Given the description of an element on the screen output the (x, y) to click on. 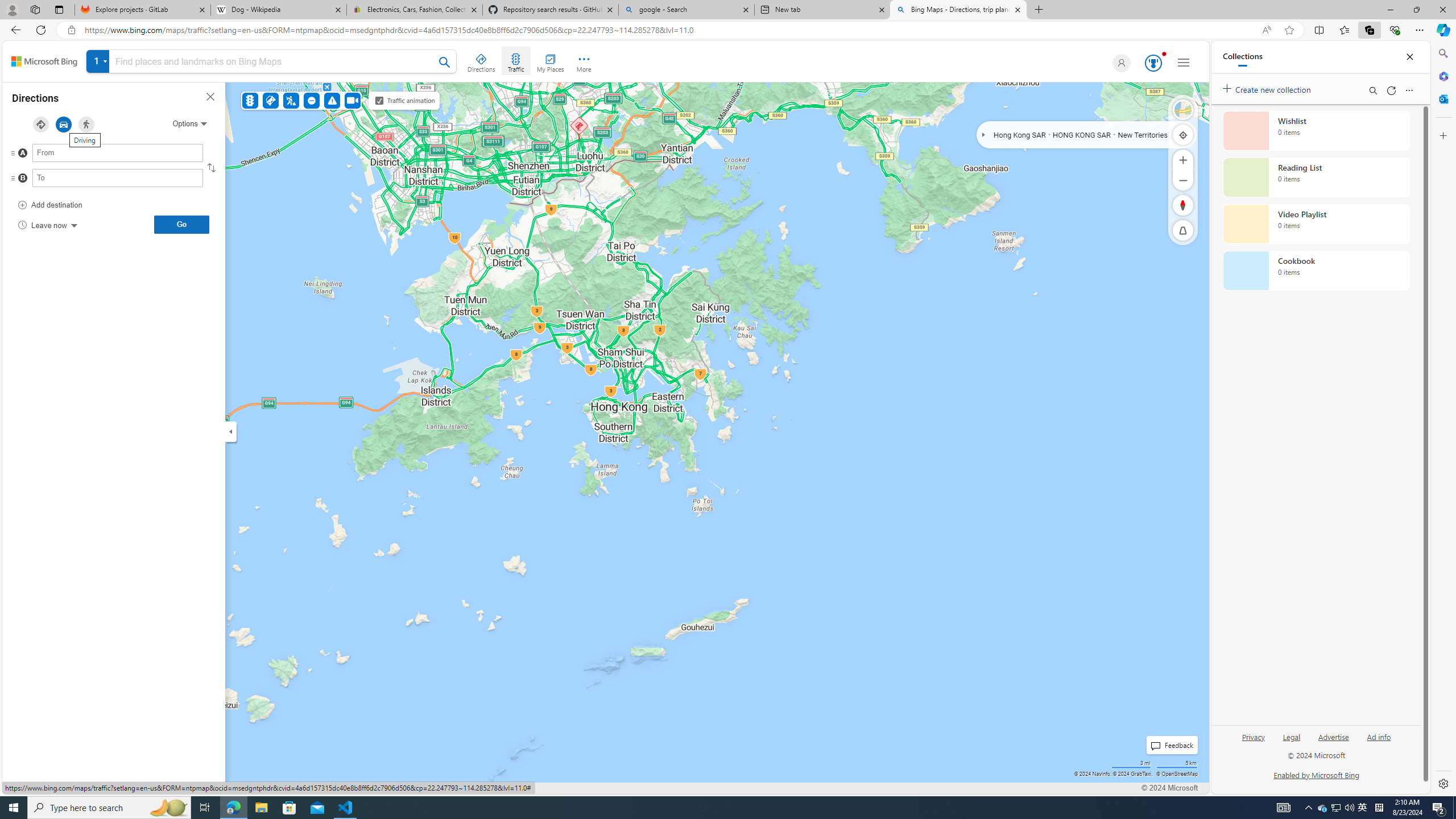
Traffic (514, 60)
Directions (481, 60)
Zoom In (1182, 159)
Accidents (270, 100)
Zoom Out (1182, 180)
Ad info (1378, 736)
Cameras (353, 100)
Default Profile Picture (1121, 63)
